Given the description of an element on the screen output the (x, y) to click on. 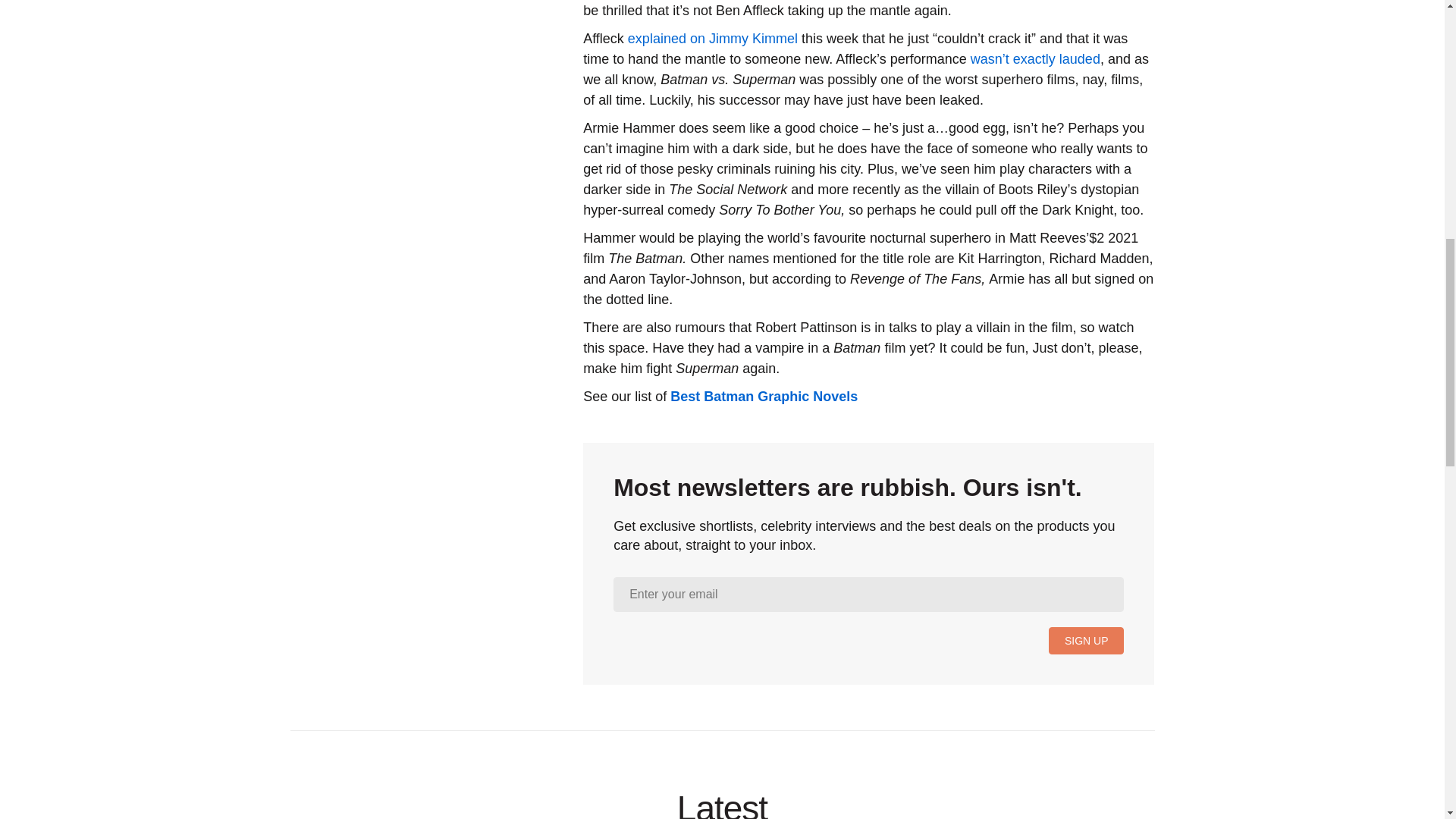
Best Batman Graphic Novels (763, 396)
SIGN UP (1086, 640)
explained on Jimmy Kimmel (712, 38)
